Given the description of an element on the screen output the (x, y) to click on. 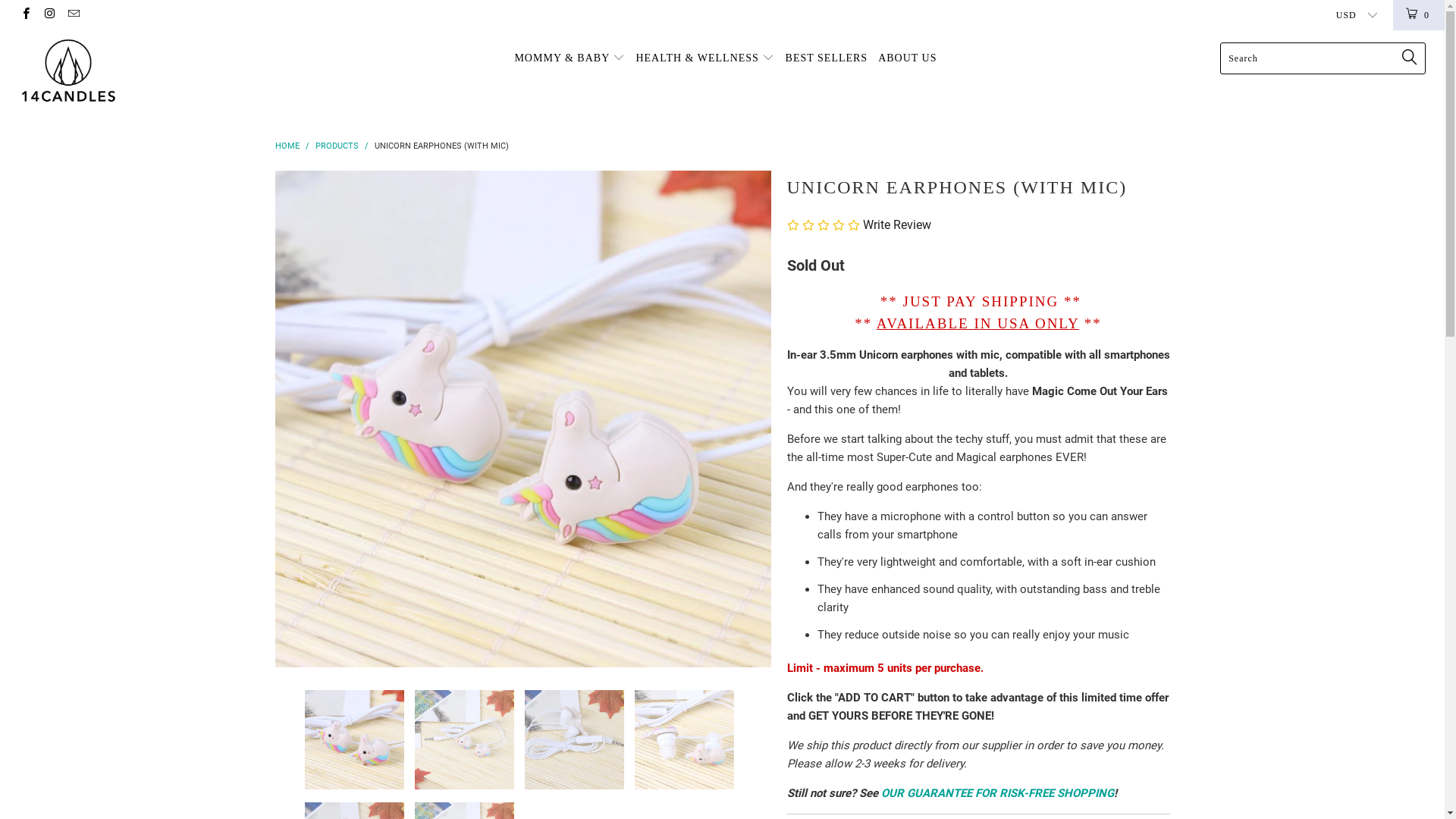
HOME Element type: text (286, 145)
14Candles Element type: hover (123, 72)
MOMMY & BABY Element type: text (569, 58)
14Candles on Instagram Element type: hover (48, 14)
PRODUCTS Element type: text (336, 145)
14Candles on Facebook Element type: hover (24, 14)
HEALTH & WELLNESS Element type: text (704, 58)
ABOUT US Element type: text (907, 58)
OUR GUARANTEE FOR RISK-FREE SHOPPING Element type: text (997, 793)
0 Element type: text (1418, 15)
BEST SELLERS Element type: text (826, 58)
Email 14Candles Element type: hover (72, 14)
